Given the description of an element on the screen output the (x, y) to click on. 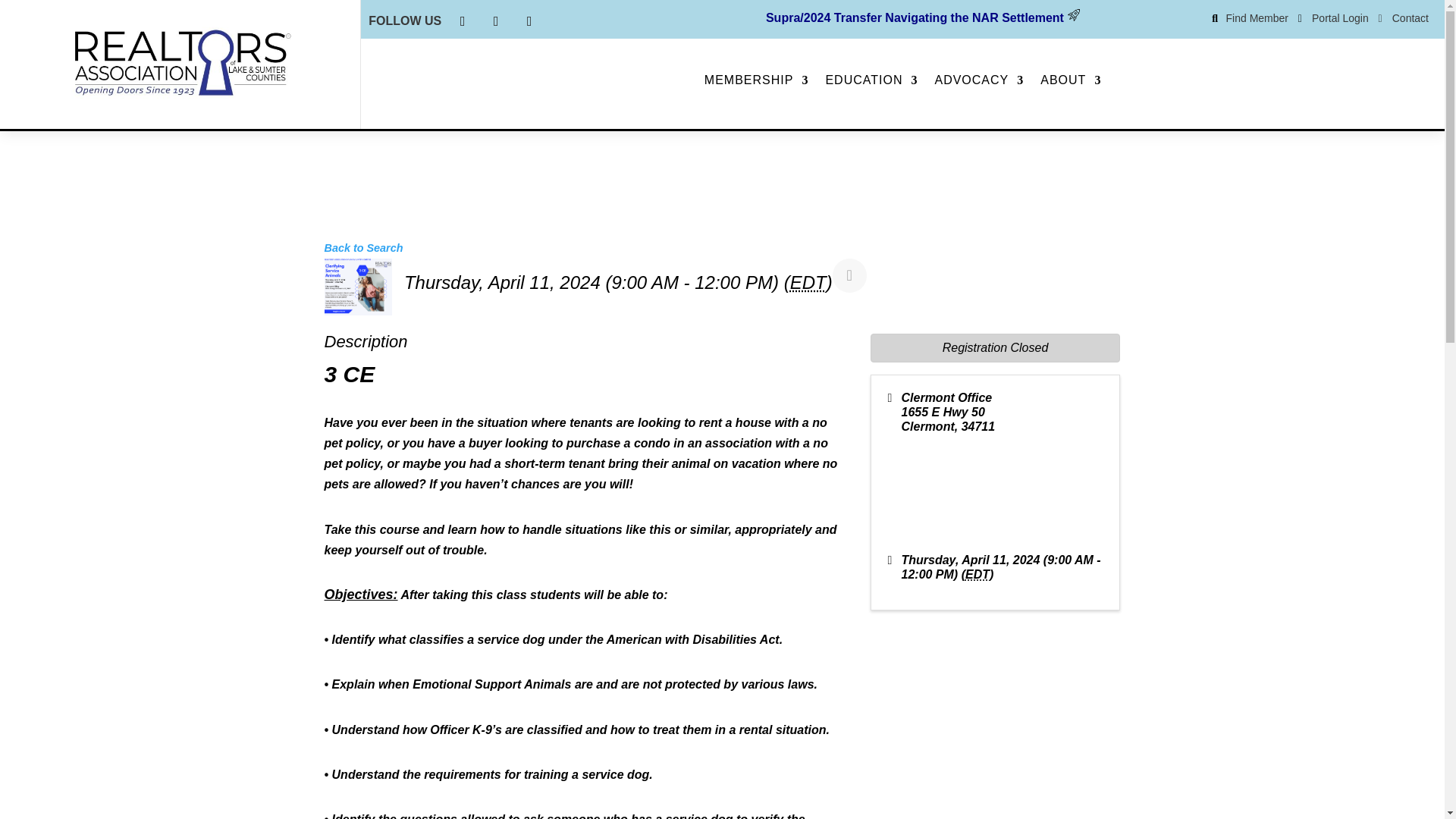
ADVOCACY (978, 83)
Follow on Facebook (462, 21)
RALSC-Logo (180, 64)
MEMBERSHIP (756, 83)
Follow on Youtube (529, 21)
Find Member (1260, 18)
Portal Login (1343, 18)
EDUCATION (871, 83)
Contact (1410, 18)
Follow on Instagram (495, 21)
